Given the description of an element on the screen output the (x, y) to click on. 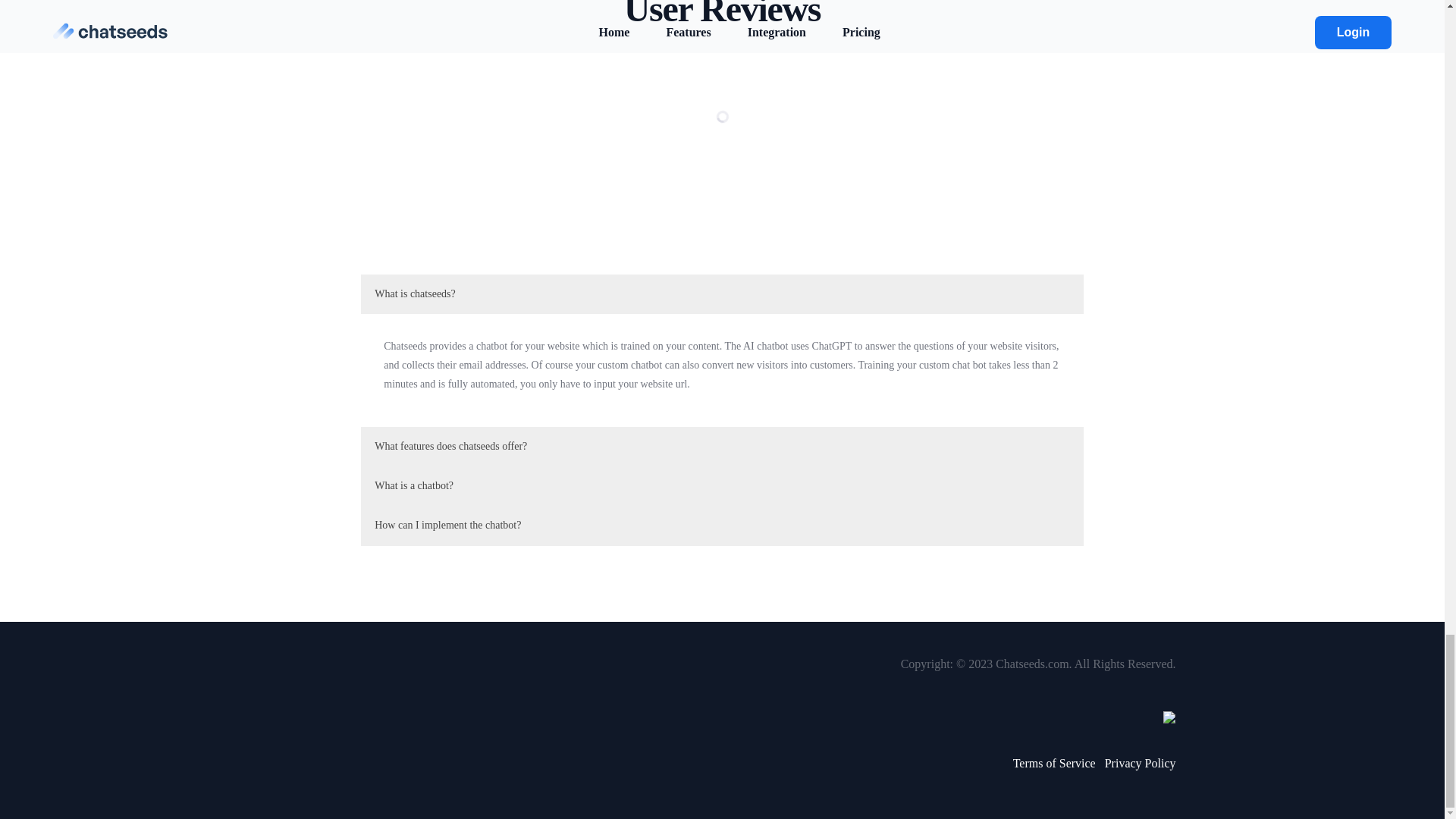
What is chatseeds? (722, 293)
What features does chatseeds offer? (722, 446)
How can I implement the chatbot? (722, 525)
Terms of Service (1054, 762)
Privacy Policy (1140, 762)
What is a chatbot? (722, 486)
